Given the description of an element on the screen output the (x, y) to click on. 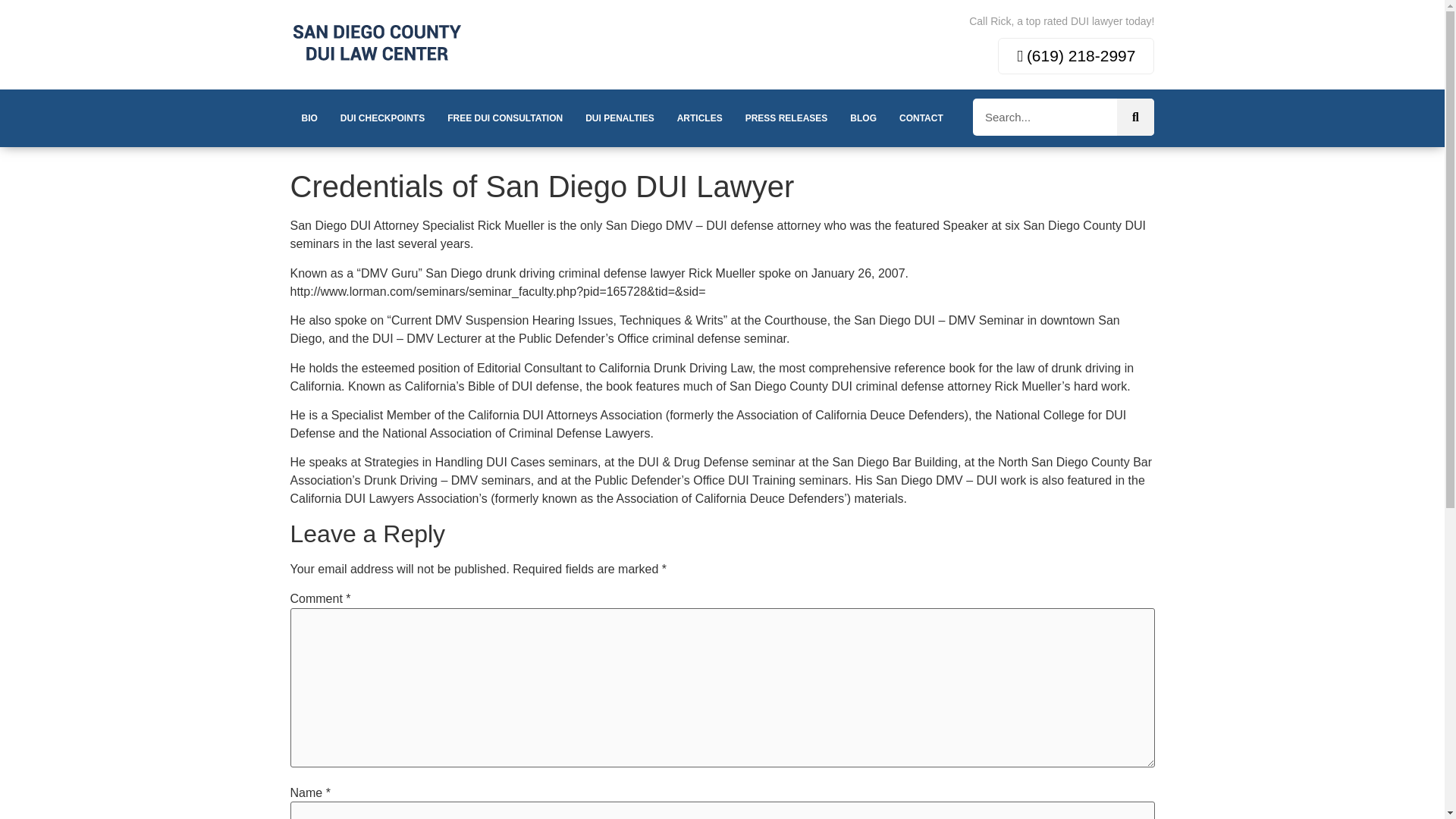
BLOG (863, 118)
DUI CHECKPOINTS (382, 118)
ARTICLES (699, 118)
PRESS RELEASES (786, 118)
BIO (309, 118)
FREE DUI CONSULTATION (504, 118)
DUI PENALTIES (619, 118)
CONTACT (921, 118)
